Given the description of an element on the screen output the (x, y) to click on. 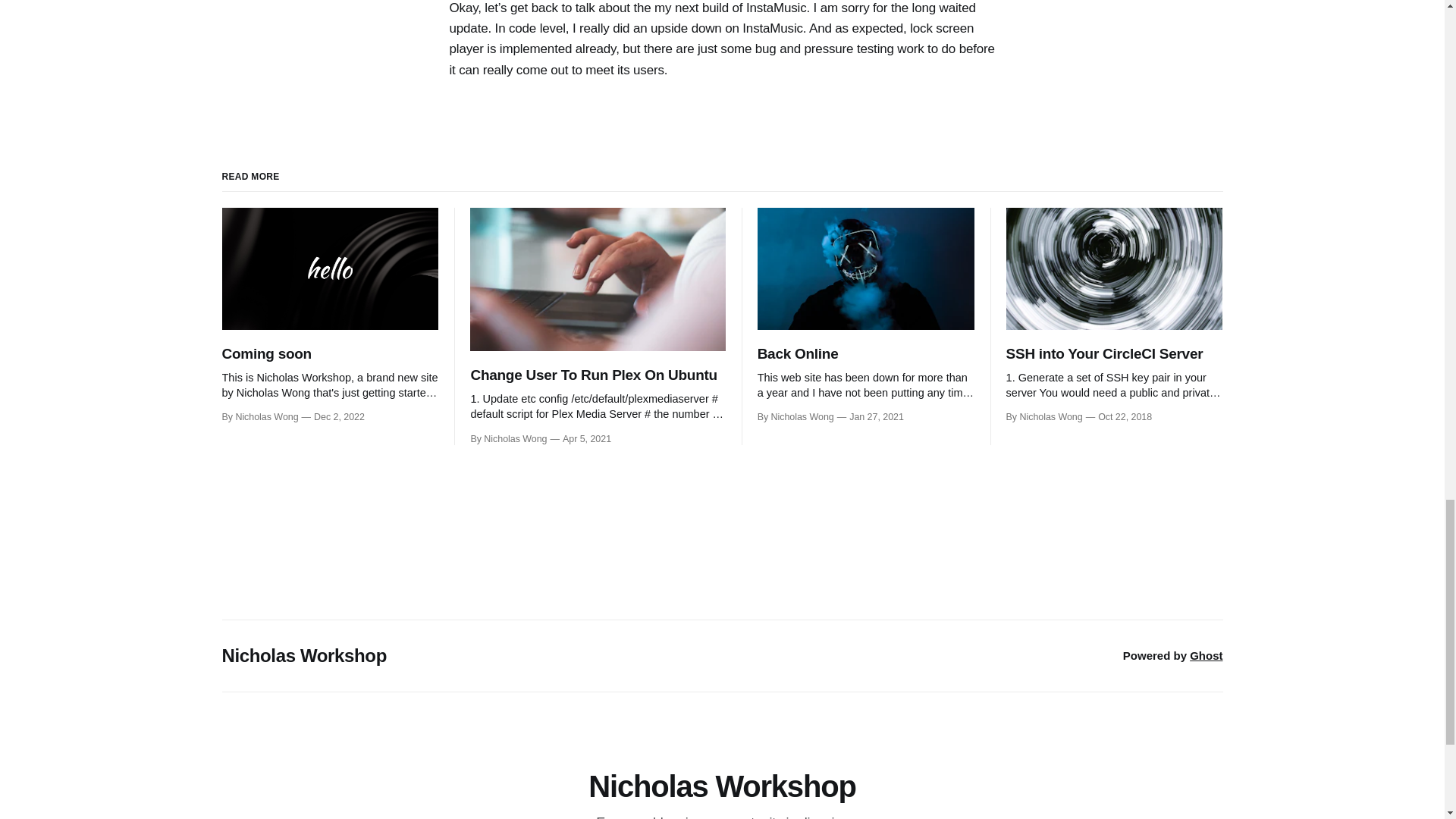
Ghost (1206, 655)
